Given the description of an element on the screen output the (x, y) to click on. 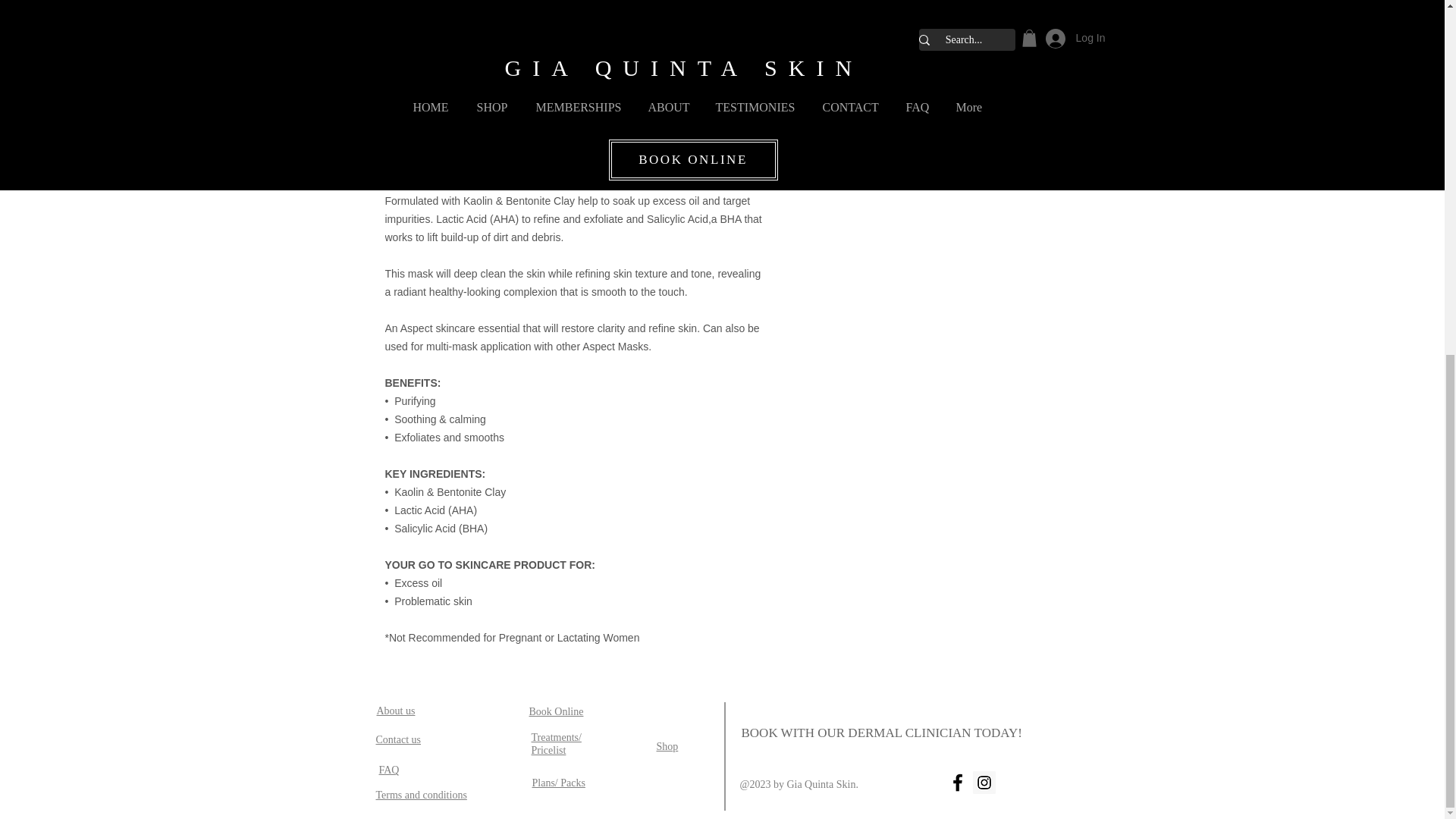
SUITABLE FOR (924, 41)
INGREDIENT LIST (924, 93)
About us (394, 710)
